Given the description of an element on the screen output the (x, y) to click on. 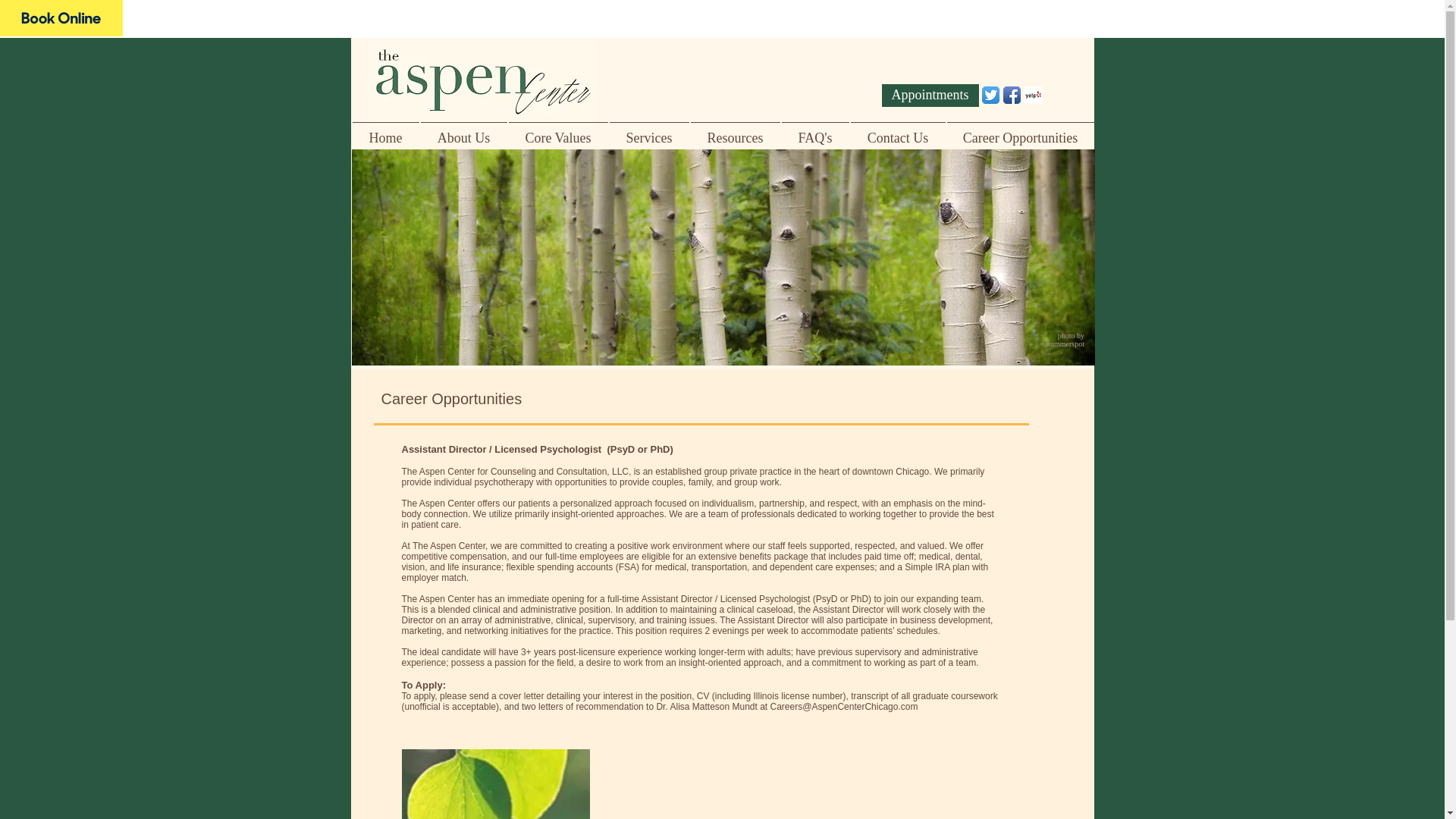
Career Opportunities (1020, 131)
Services (648, 131)
Resources (735, 131)
Home (386, 131)
Appointments (929, 95)
The Aspen Center (61, 18)
Core Values (558, 131)
FAQ's (815, 131)
Contact Us (896, 131)
photo by  (1072, 335)
